Given the description of an element on the screen output the (x, y) to click on. 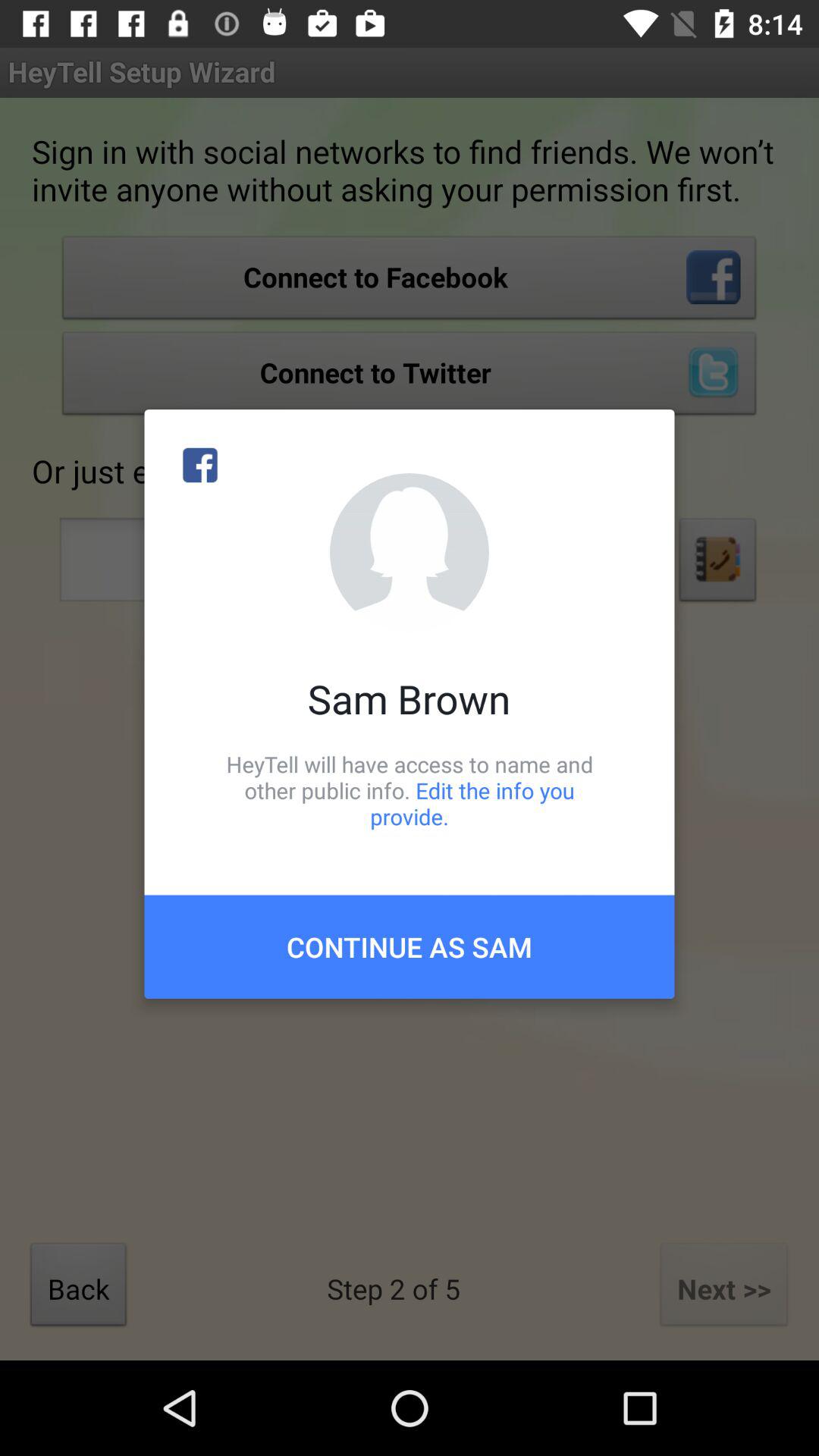
click the item above the continue as sam item (409, 790)
